Given the description of an element on the screen output the (x, y) to click on. 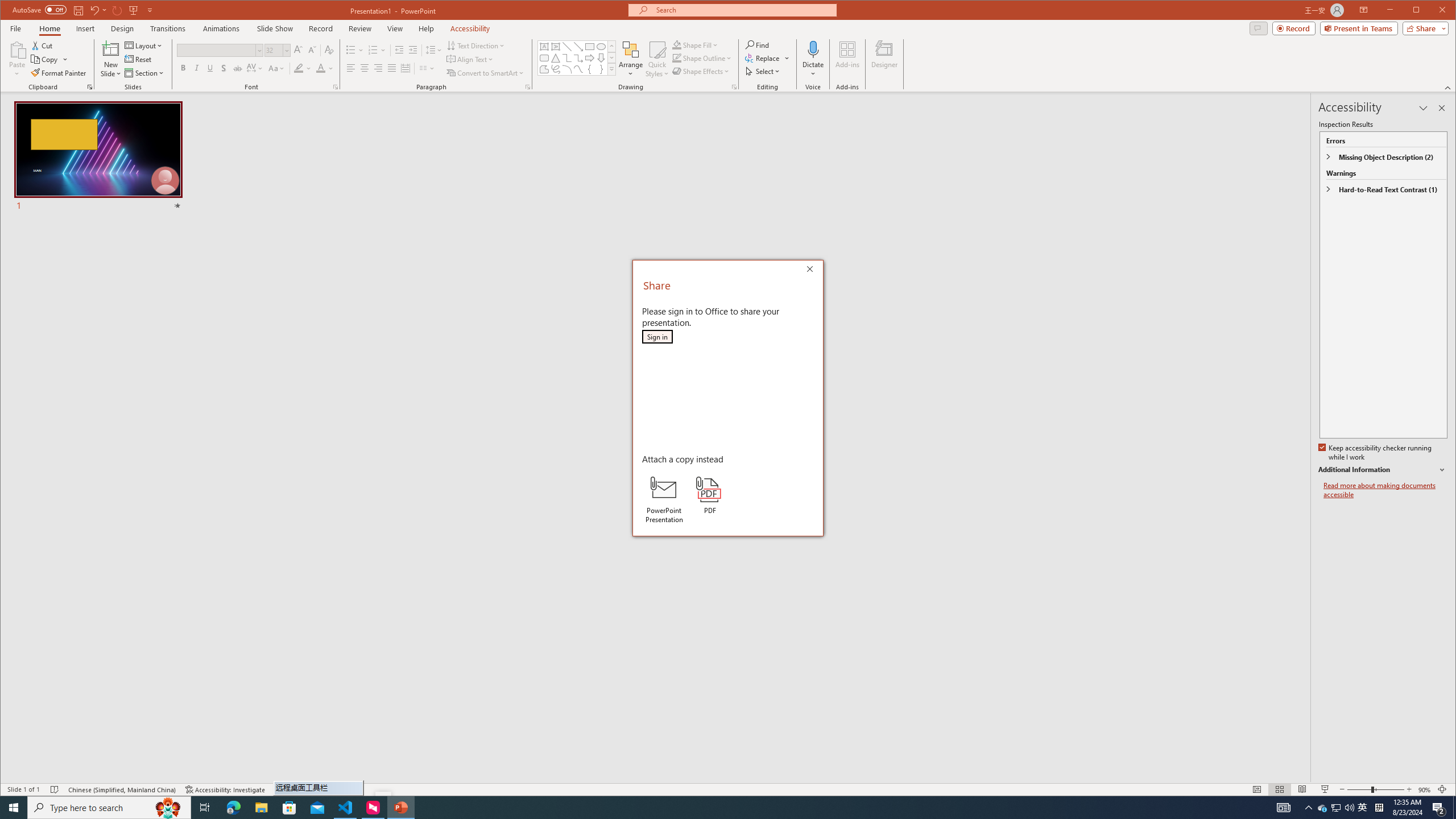
User Promoted Notification Area (1322, 807)
Shape Effects (1336, 807)
Line (702, 70)
Tray Input Indicator - Chinese (Simplified, China) (567, 46)
Right Brace (1378, 807)
Task View (601, 69)
Arc (204, 807)
Paragraph... (567, 69)
Microsoft Store (527, 86)
